Given the description of an element on the screen output the (x, y) to click on. 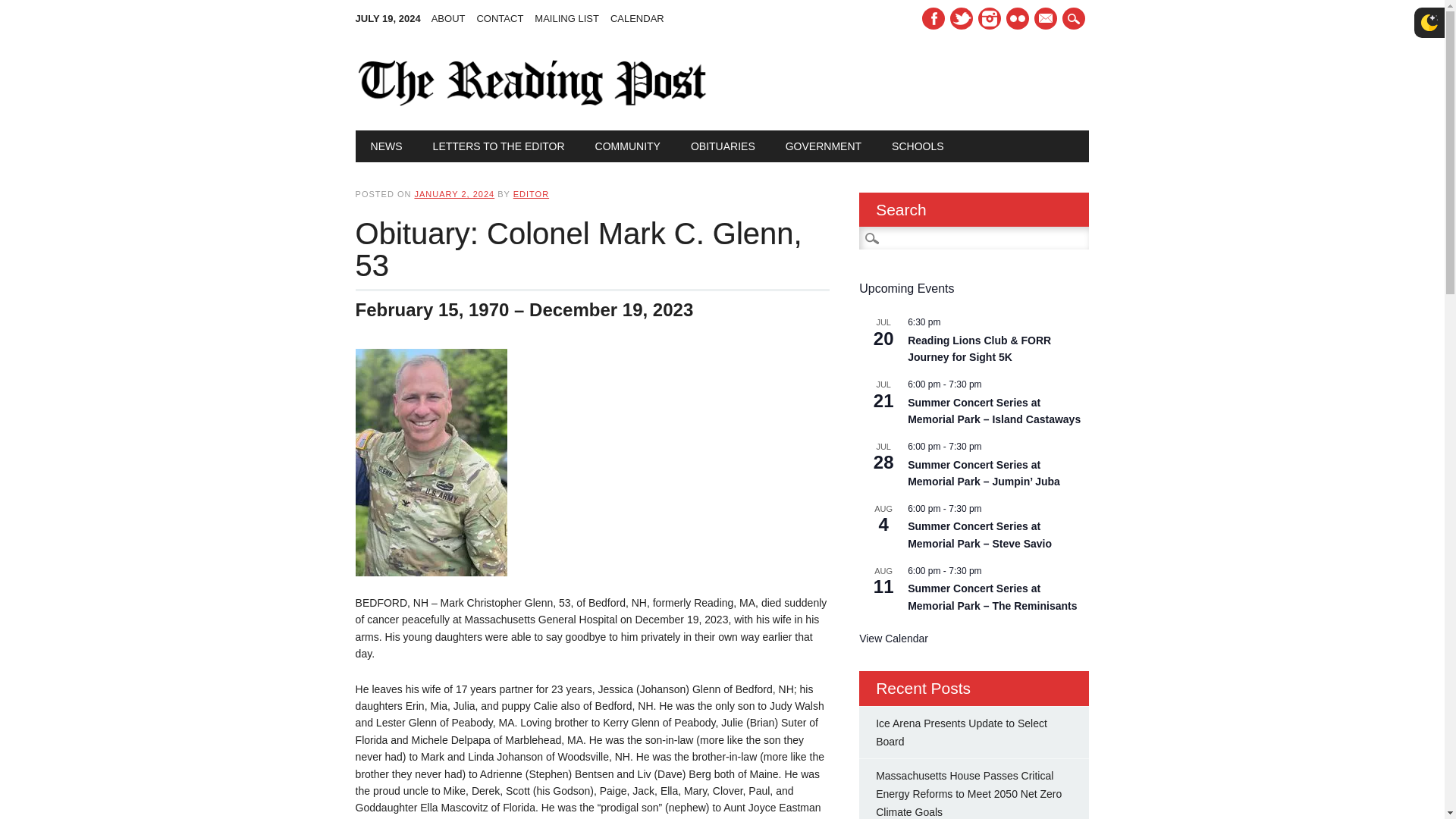
COMMUNITY (627, 146)
11:53 am (454, 194)
The Reading Post (532, 102)
GOVERNMENT (823, 146)
View all posts by Editor (530, 194)
CALENDAR (642, 18)
CONTACT (505, 18)
ABOUT (453, 18)
E-mail (1045, 18)
LETTERS TO THE EDITOR (498, 146)
Facebook (932, 18)
NEWS (386, 146)
OBITUARIES (722, 146)
Twitter (961, 18)
MAILING LIST (572, 18)
